Given the description of an element on the screen output the (x, y) to click on. 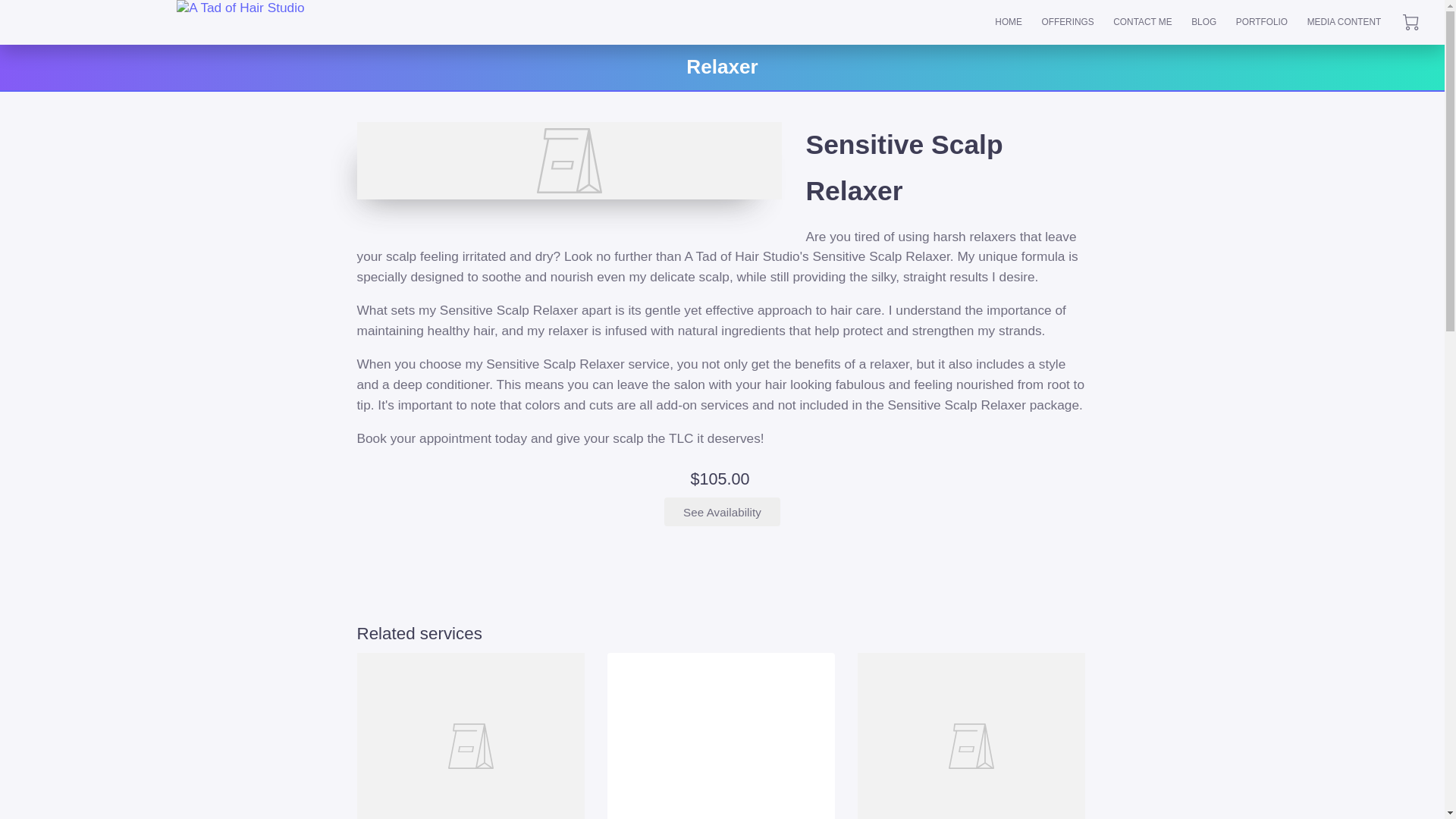
CONTACT ME (1141, 22)
See Availability (720, 511)
MEDIA CONTENT (1343, 22)
PORTFOLIO (1261, 22)
0 (1410, 22)
OFFERINGS (1067, 22)
HOME (1008, 22)
BLOG (1202, 22)
